Given the description of an element on the screen output the (x, y) to click on. 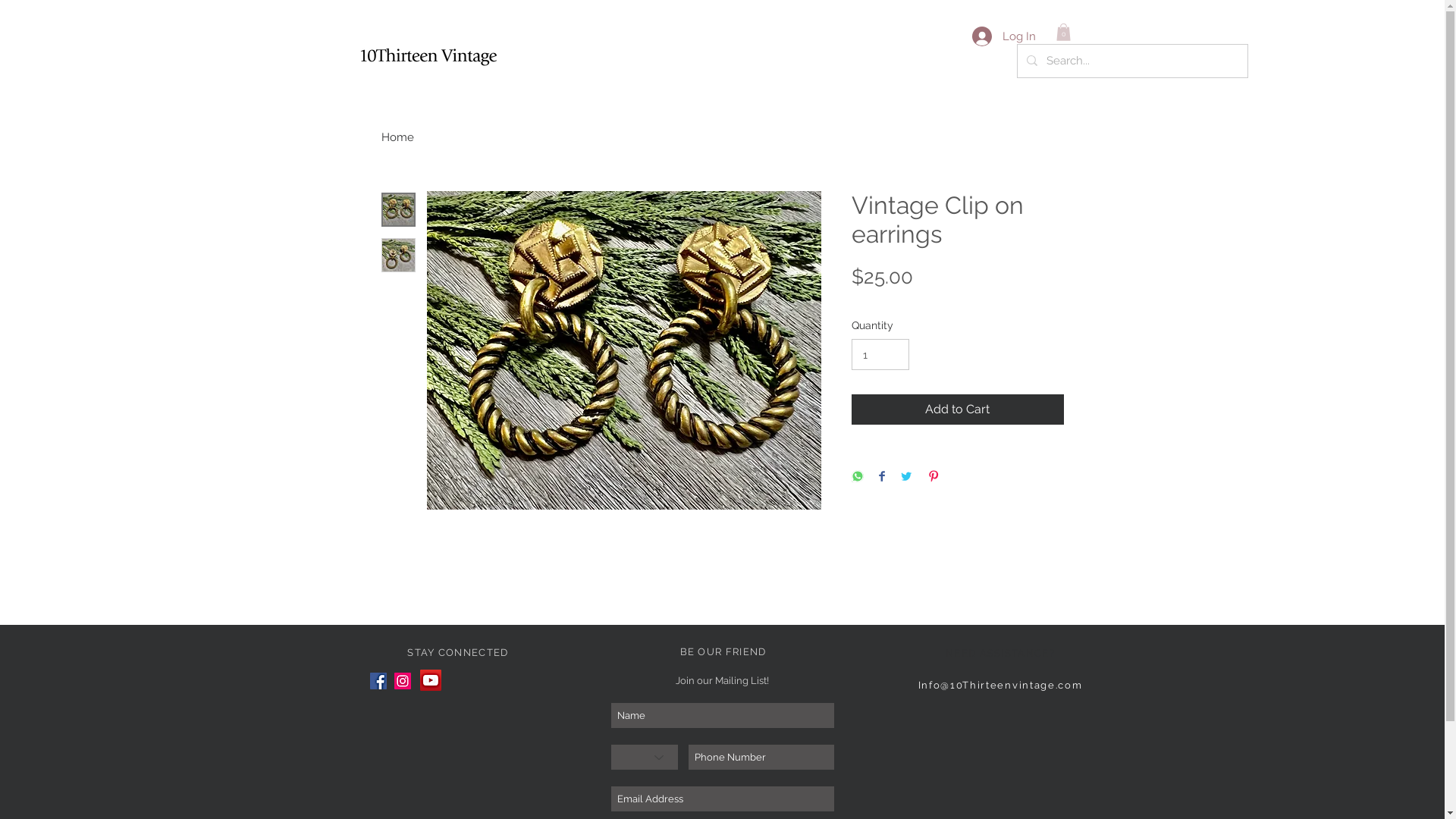
Add to Cart Element type: text (956, 409)
Info@10Thirteenvintage.com Element type: text (1000, 684)
0 Element type: text (1062, 31)
Log In Element type: text (1003, 35)
Home Element type: text (396, 137)
1013_LOGO_Vintage.jpg Element type: hover (428, 55)
